Given the description of an element on the screen output the (x, y) to click on. 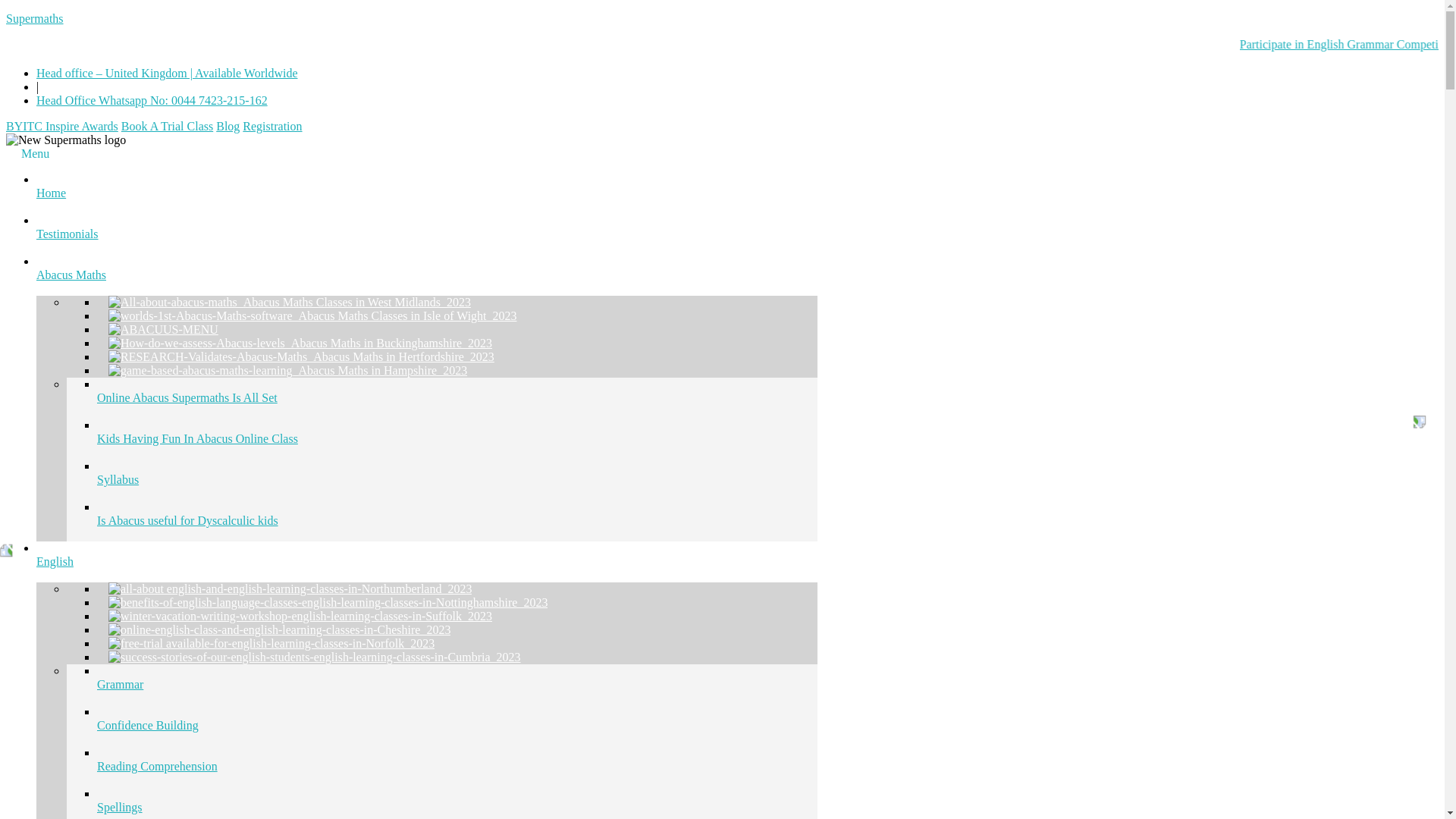
BYITC Inspire Awards (61, 125)
Writing (456, 814)
Spellings (456, 793)
Blog (227, 125)
Supermaths (34, 18)
Confidence Building (456, 725)
Syllabus (456, 479)
Supermaths (34, 18)
Kids Having Fun In Abacus Online Class (456, 438)
Online Abacus Supermaths Is All Set (456, 397)
Book A Trial Class (166, 125)
Is Abacus useful for Dyscalculic kids (456, 520)
Head Office Whatsapp No: 0044 7423-215-162 (151, 100)
Reading Comprehension (456, 766)
Registration (272, 125)
